Given the description of an element on the screen output the (x, y) to click on. 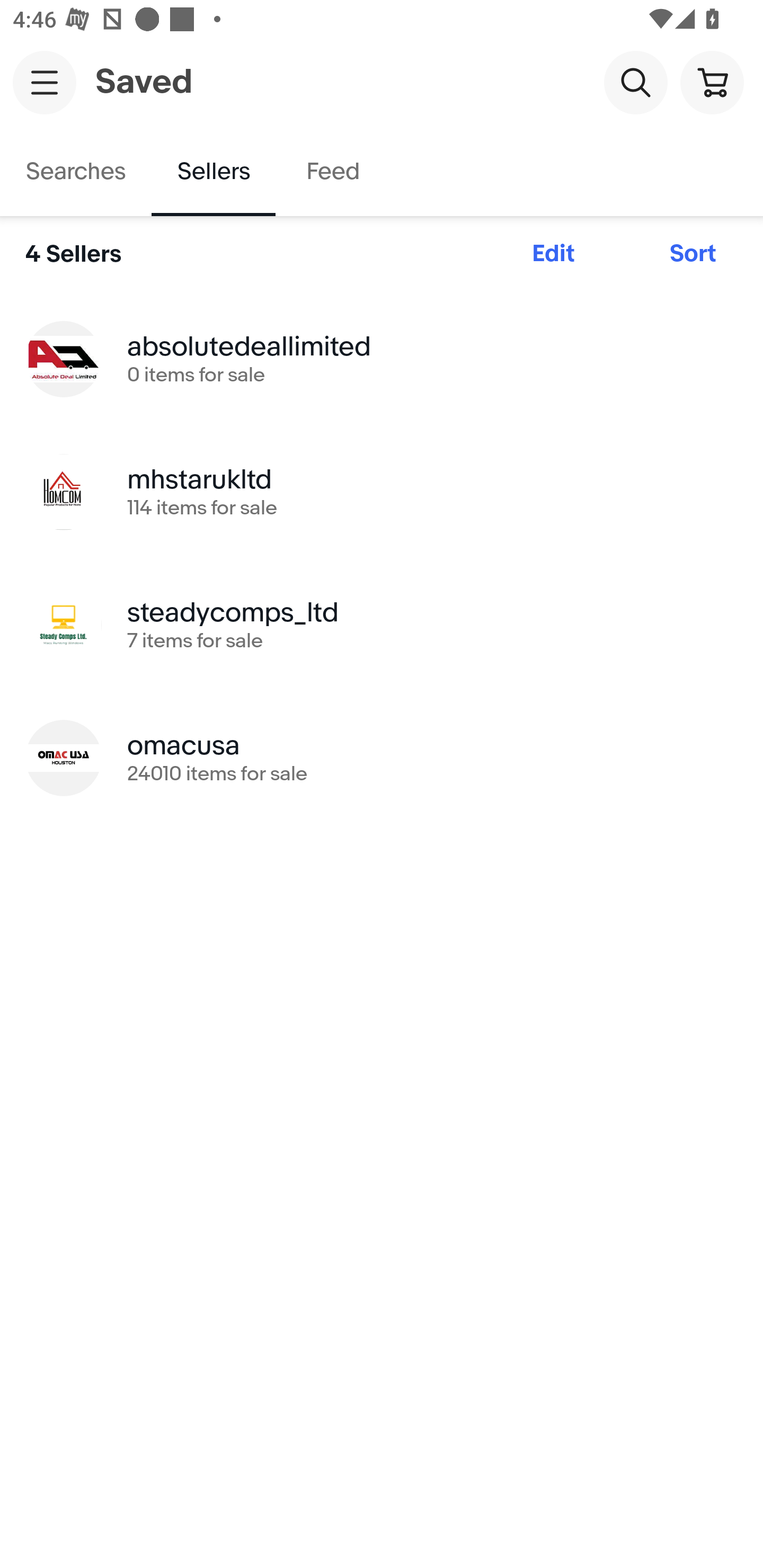
Main navigation, open (44, 82)
Search (635, 81)
Cart button shopping cart (711, 81)
Searches (75, 171)
Feed (332, 171)
Edit (552, 253)
Sort (693, 253)
absolutedeallimited 0 items for sale (381, 357)
mhstarukltd 114 items for sale (381, 491)
steadycomps_ltd 7 items for sale (381, 624)
omacusa 24010 items for sale (381, 757)
